Given the description of an element on the screen output the (x, y) to click on. 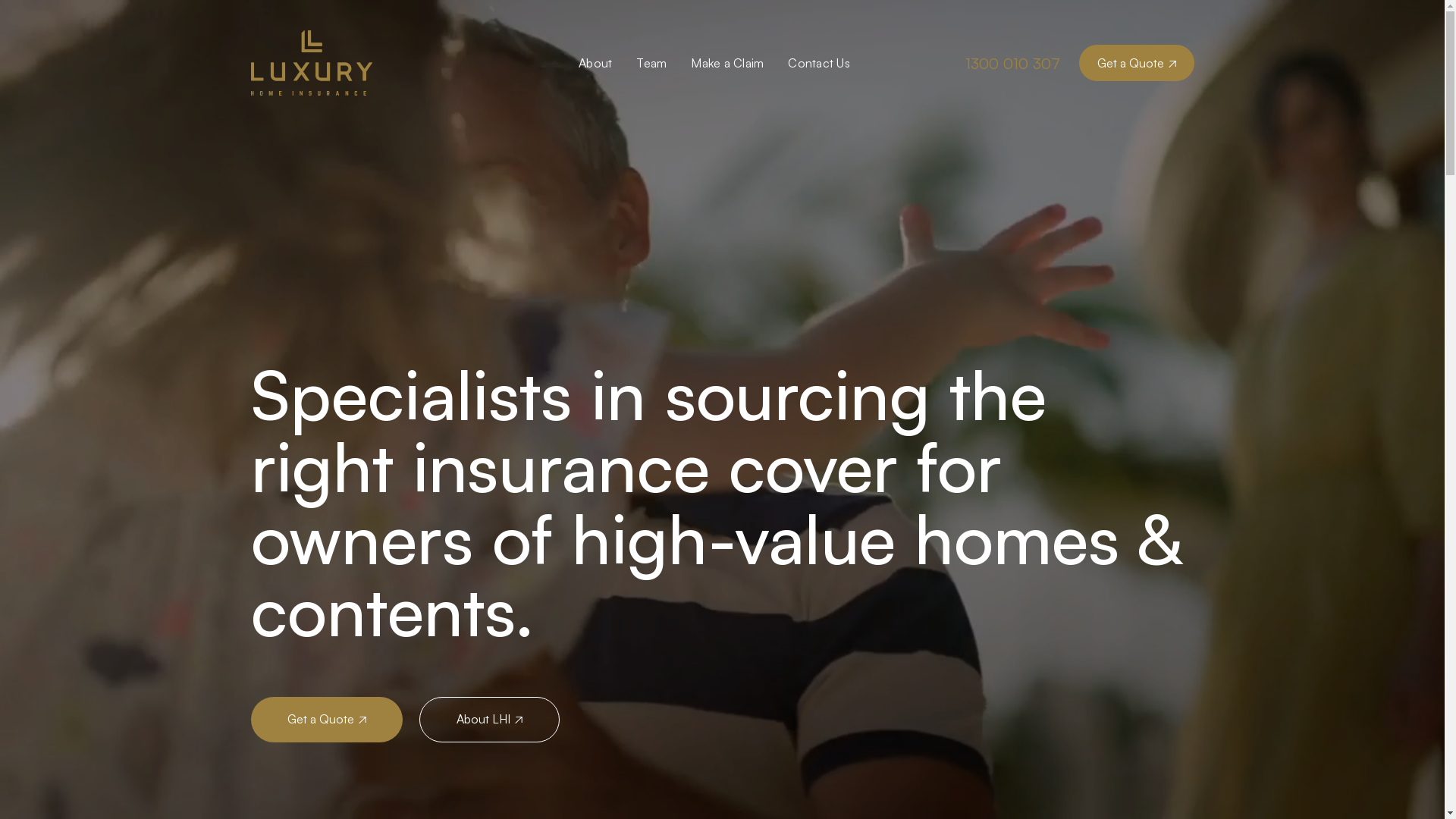
Contact Us Element type: text (818, 62)
Team Element type: text (651, 62)
About Element type: text (594, 62)
Make a Claim Element type: text (726, 62)
1300 010 307 Element type: text (1021, 63)
